Given the description of an element on the screen output the (x, y) to click on. 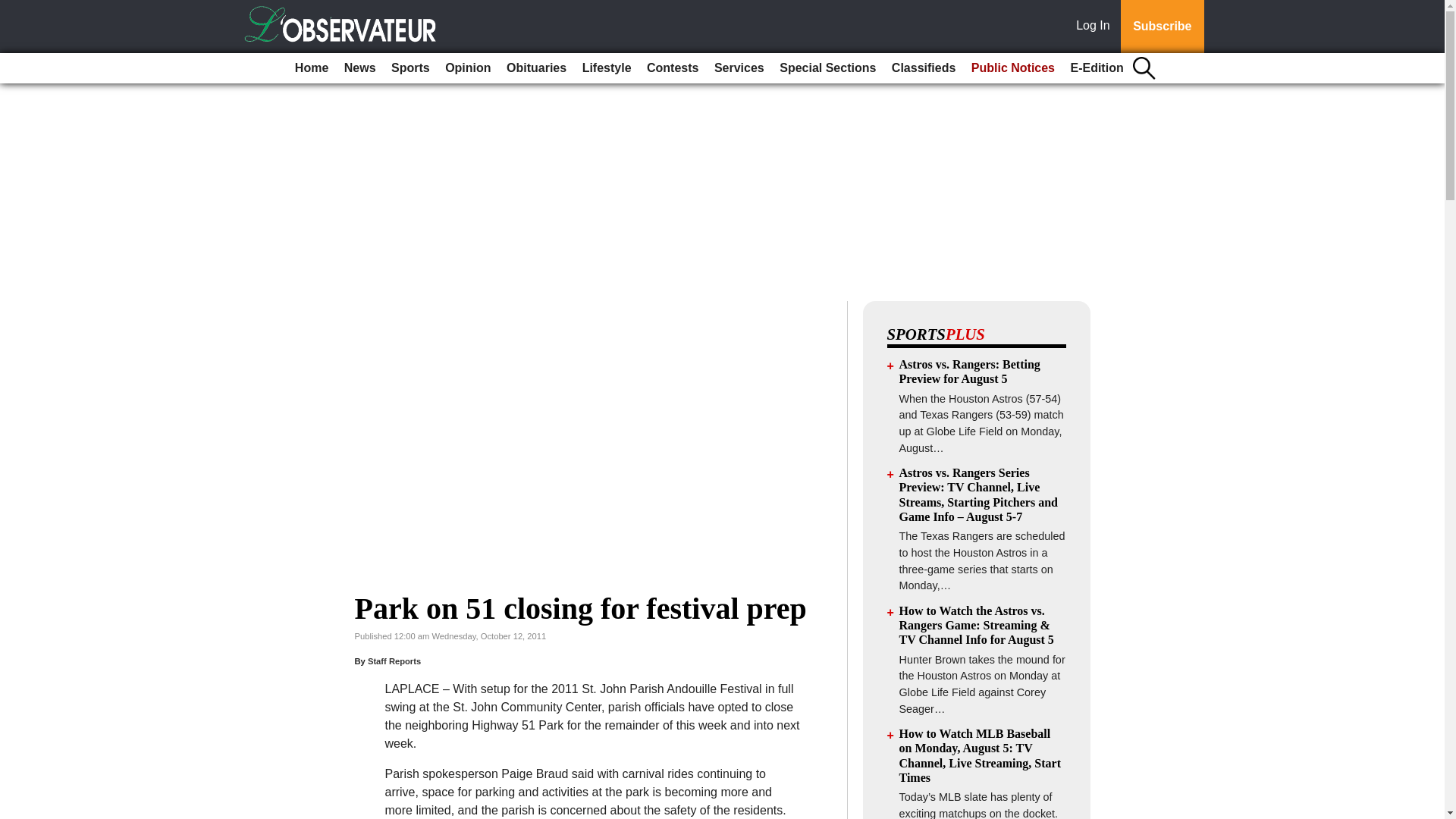
Sports (410, 68)
Opinion (467, 68)
Subscribe (1162, 26)
Go (13, 9)
Log In (1095, 26)
Home (311, 68)
Public Notices (1013, 68)
Special Sections (827, 68)
Staff Reports (394, 660)
